Given the description of an element on the screen output the (x, y) to click on. 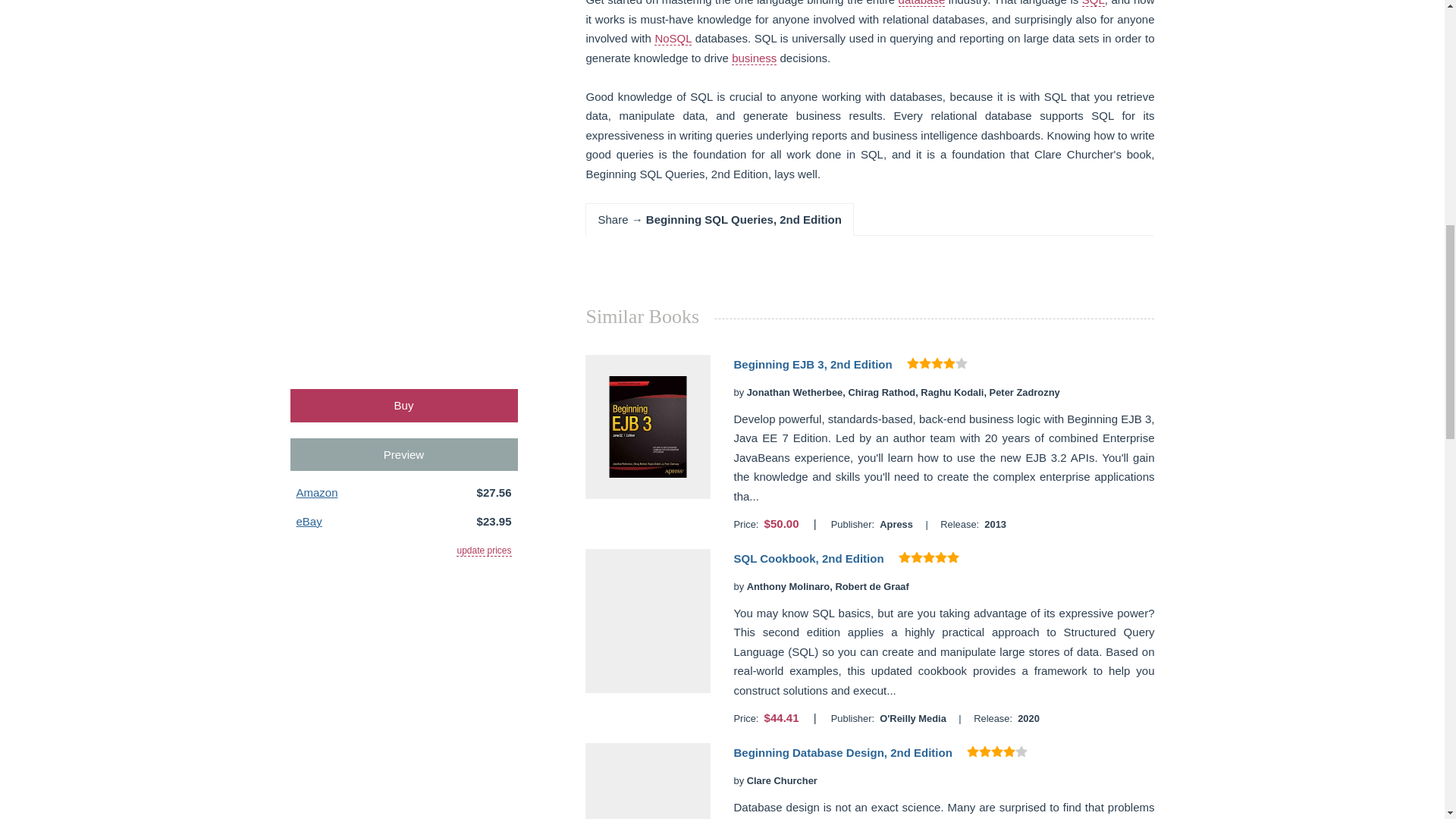
Preview (402, 454)
SQL Books (1093, 3)
Amazon (316, 492)
Buy (402, 405)
update prices (484, 550)
database (921, 3)
Beginning Database Design, 2nd Edition (842, 752)
Database Books (921, 3)
Beginning EJB 3, 2nd Edition (812, 364)
Buy (402, 405)
Preview (402, 454)
NoSQL (672, 38)
SQL (1093, 3)
SQL Cookbook, 2nd Edition (808, 558)
business (754, 58)
